Given the description of an element on the screen output the (x, y) to click on. 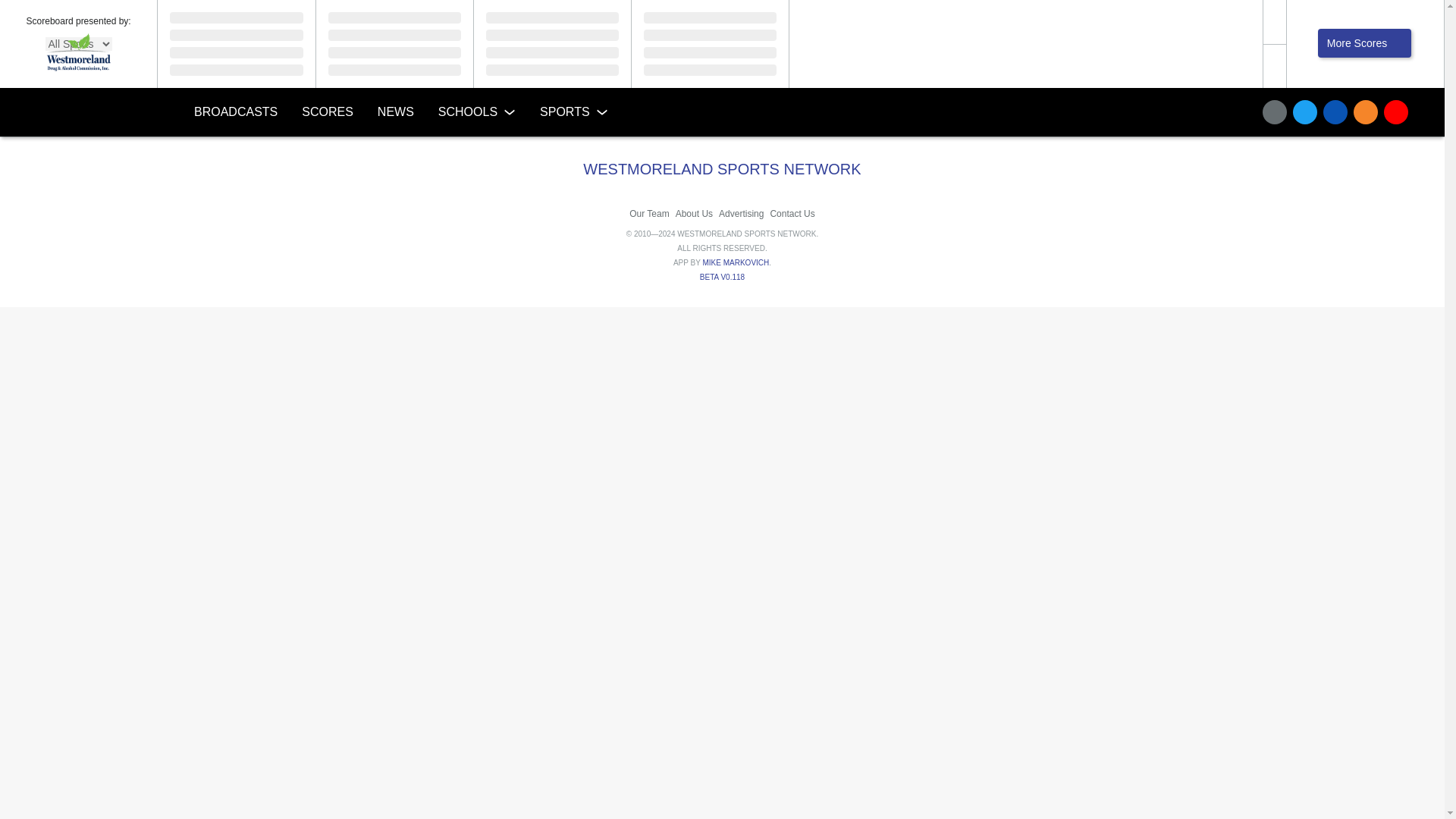
SPORTS (573, 111)
BROADCASTS (235, 111)
BASEBALL (580, 148)
NEWS (395, 111)
More Scores (1363, 42)
KISKI AREA (494, 148)
SCORES (327, 111)
SCHOOLS (476, 111)
BELLE VERNON (537, 148)
Westmoreland Sports Network (85, 111)
